Given the description of an element on the screen output the (x, y) to click on. 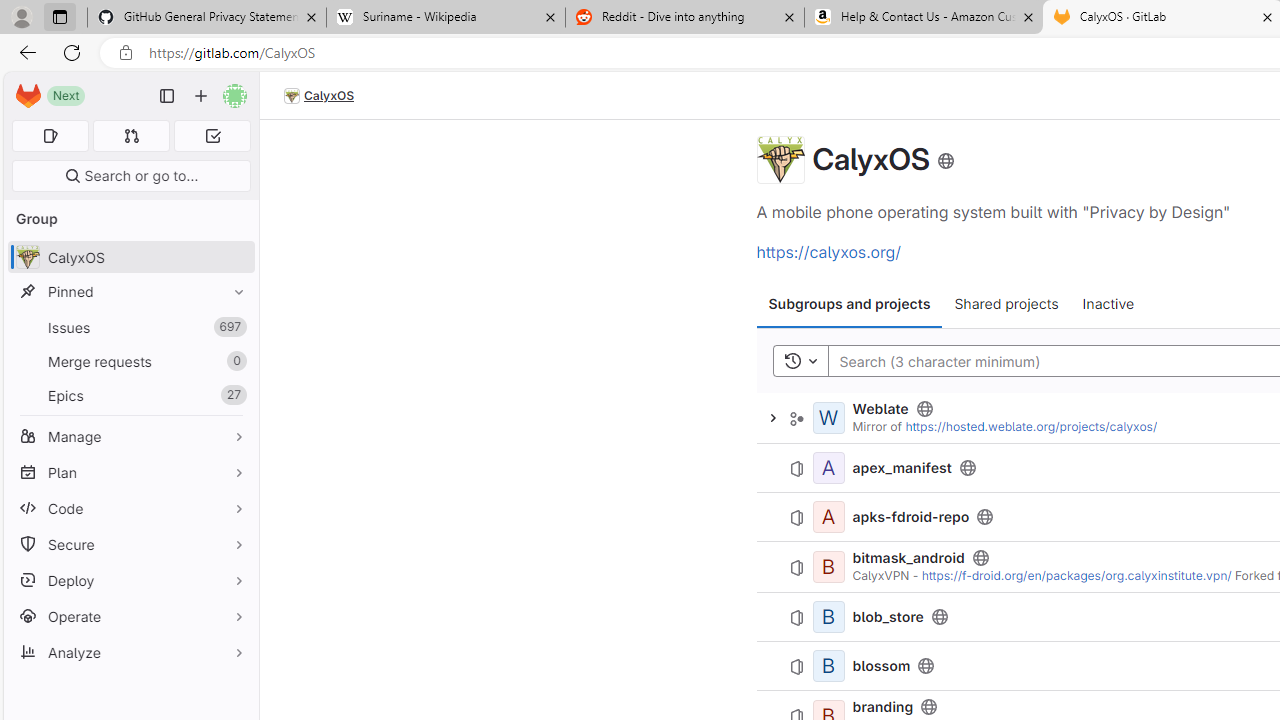
Primary navigation sidebar (167, 96)
To-Do list 0 (212, 136)
CalyxOS (780, 160)
Analyze (130, 651)
Secure (130, 543)
avatar (27, 257)
blossom (881, 665)
branding (882, 706)
Subgroups and projects (849, 304)
